Given the description of an element on the screen output the (x, y) to click on. 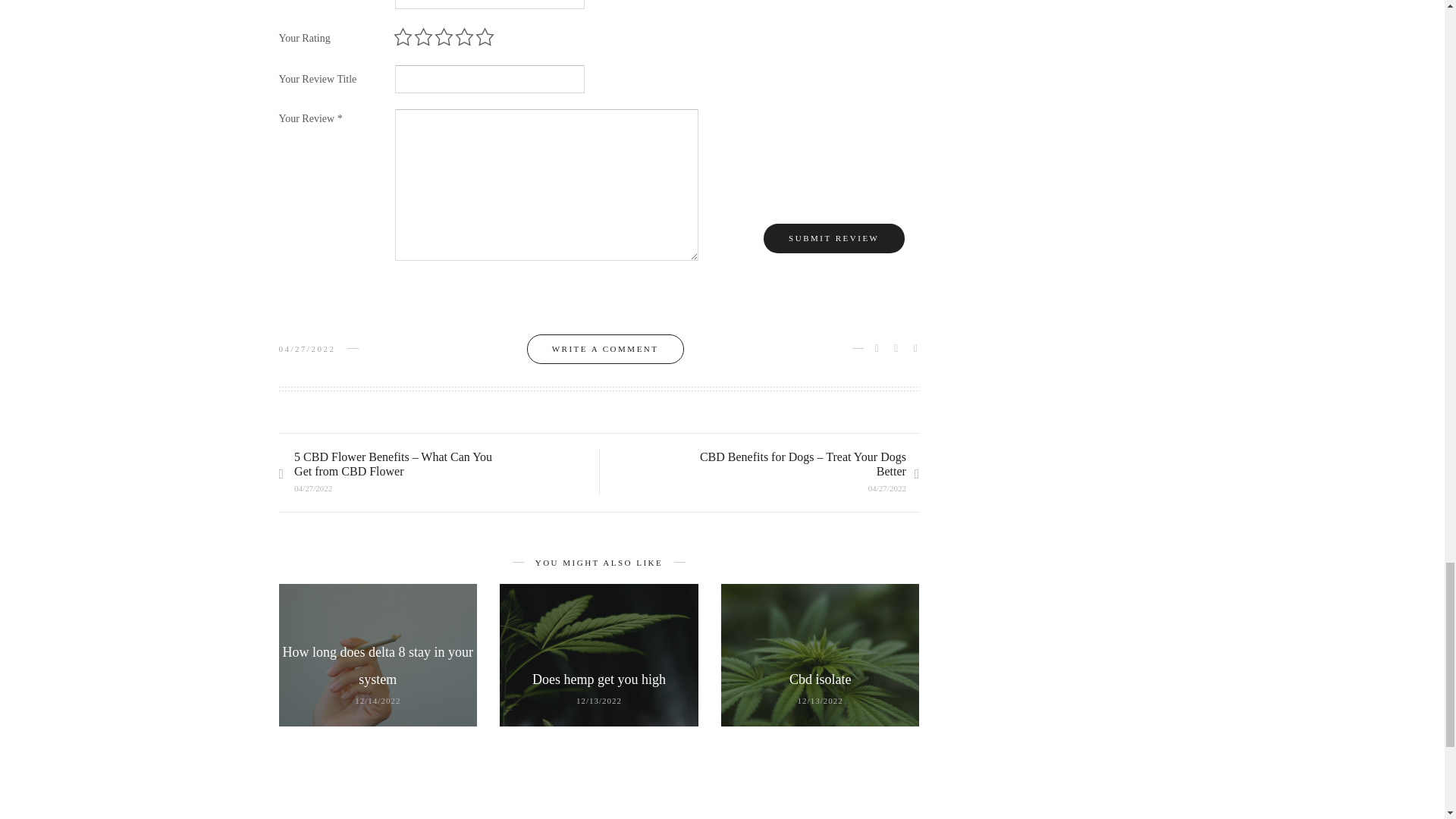
Does hemp get you high (598, 679)
How long does delta 8 stay in your system (377, 665)
Cbd isolate (820, 679)
Submit Review (833, 238)
